Given the description of an element on the screen output the (x, y) to click on. 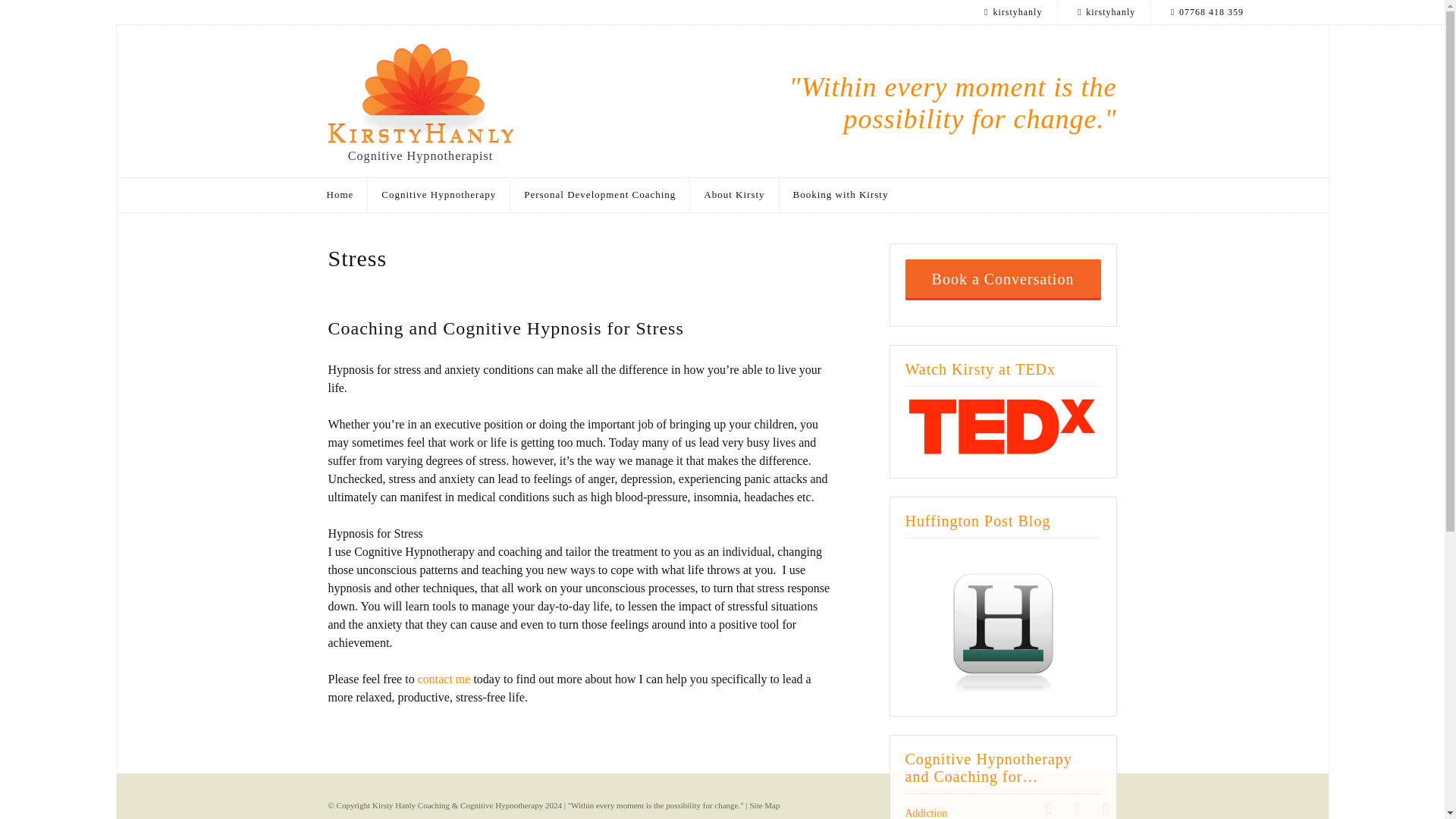
Book a Conversation (1002, 279)
Search (605, 18)
kirstyhanly (1011, 12)
Cognitive Hypnotherapy (439, 194)
contact me (443, 678)
Addiction (926, 813)
07768 418 359 (1104, 807)
Personal Development Coaching (600, 194)
kirstyhanly (1104, 12)
